Given the description of an element on the screen output the (x, y) to click on. 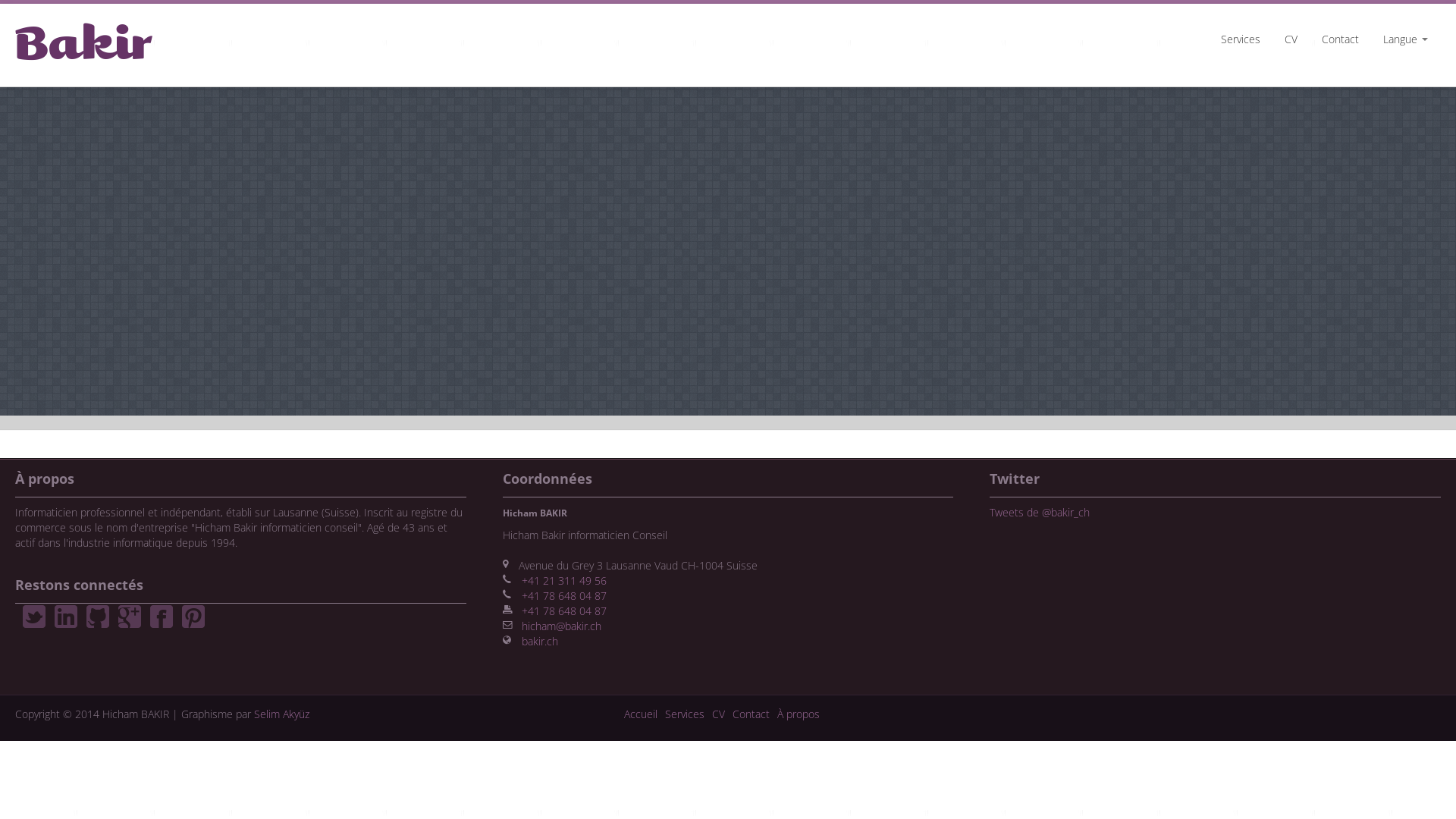
Tweets de @bakir_ch Element type: text (1039, 512)
+41 21 311 49 56 Element type: text (563, 580)
+41 78 648 04 87 Element type: text (563, 595)
bakir.ch Element type: text (539, 640)
Services Element type: text (684, 713)
Bakir Element type: text (41, 44)
Langue Element type: text (1405, 39)
CV Element type: text (718, 713)
CV Element type: text (1290, 39)
Contact Element type: text (1340, 39)
+41 78 648 04 87 Element type: text (563, 610)
hicham@bakir.ch Element type: text (561, 625)
Services Element type: text (1240, 39)
Contact Element type: text (750, 713)
Accueil Element type: text (640, 713)
